Given the description of an element on the screen output the (x, y) to click on. 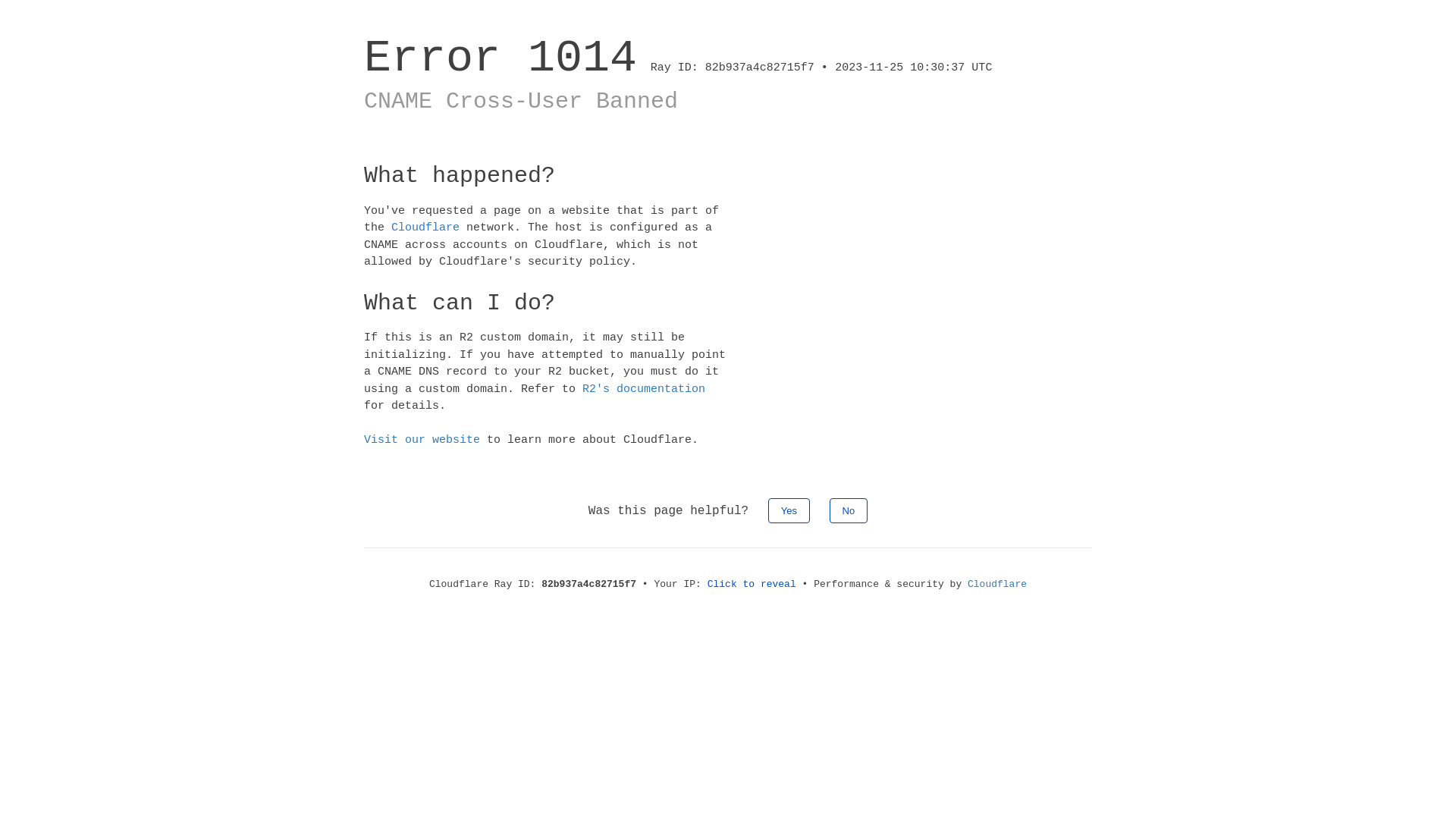
Cloudflare Element type: text (425, 227)
No Element type: text (848, 509)
Yes Element type: text (788, 509)
Click to reveal Element type: text (751, 583)
Visit our website Element type: text (422, 439)
Cloudflare Element type: text (996, 583)
R2's documentation Element type: text (643, 388)
